Given the description of an element on the screen output the (x, y) to click on. 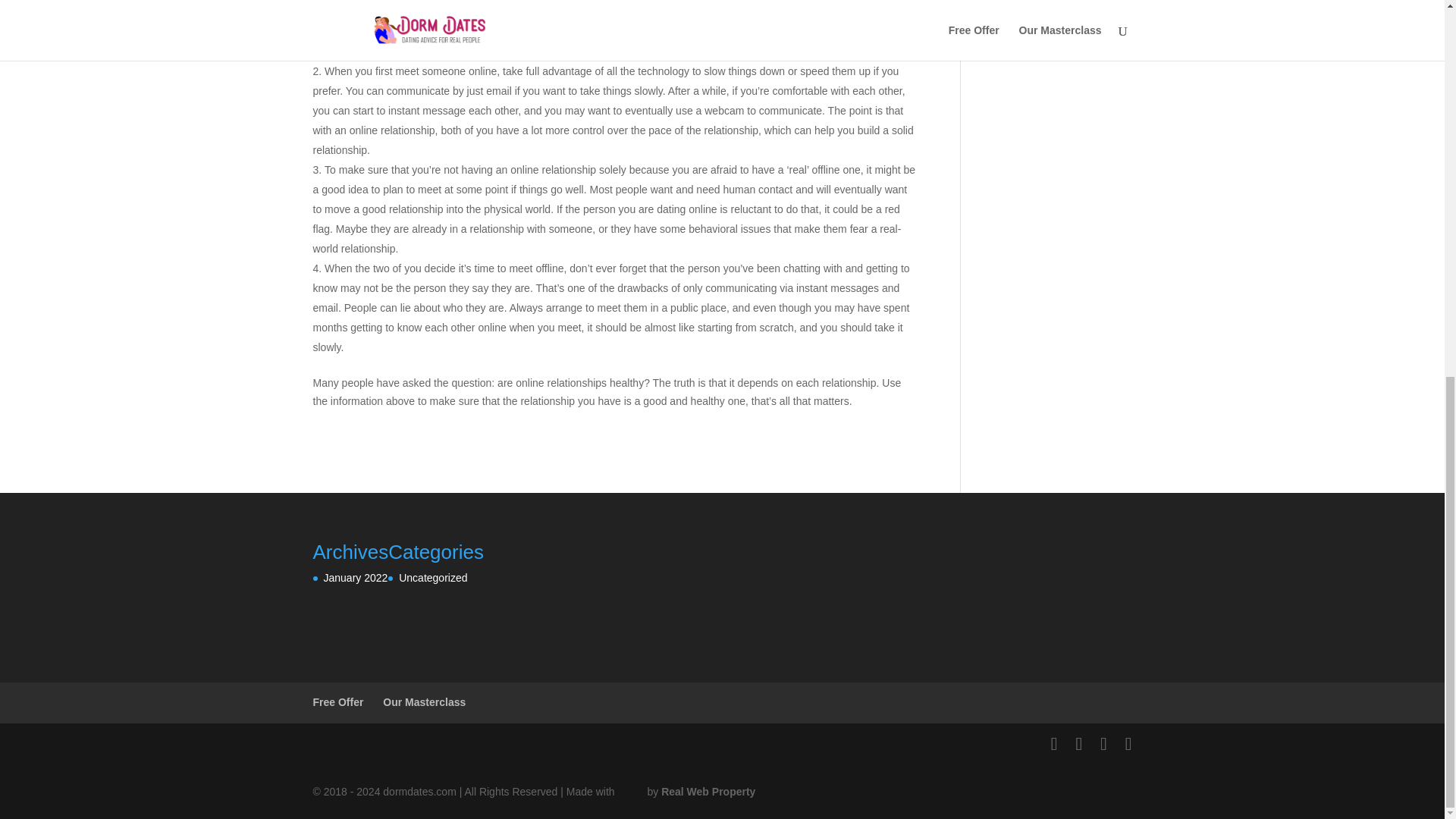
Our Masterclass (423, 702)
Uncategorized (432, 577)
Free Offer (337, 702)
January 2022 (355, 577)
Real Web Property (708, 791)
